Given the description of an element on the screen output the (x, y) to click on. 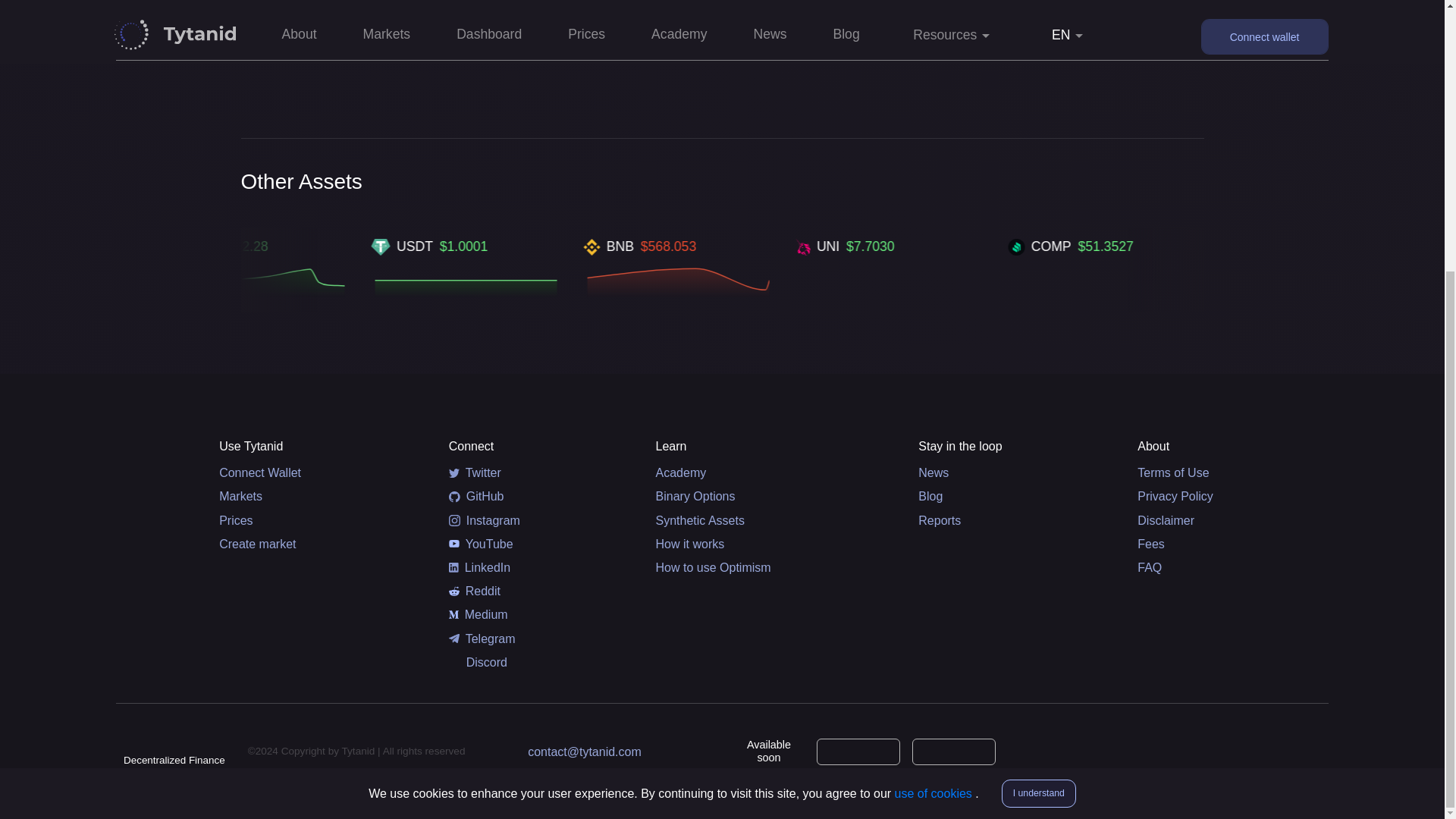
Connect Wallet (319, 472)
LinkedIn (479, 567)
Prices (319, 520)
Instagram (483, 520)
GitHub (475, 495)
YouTube (480, 544)
Markets (319, 495)
use of cookies (935, 395)
Twitter (474, 472)
Create a Market (722, 12)
Create market (319, 544)
I understand (1038, 395)
